Given the description of an element on the screen output the (x, y) to click on. 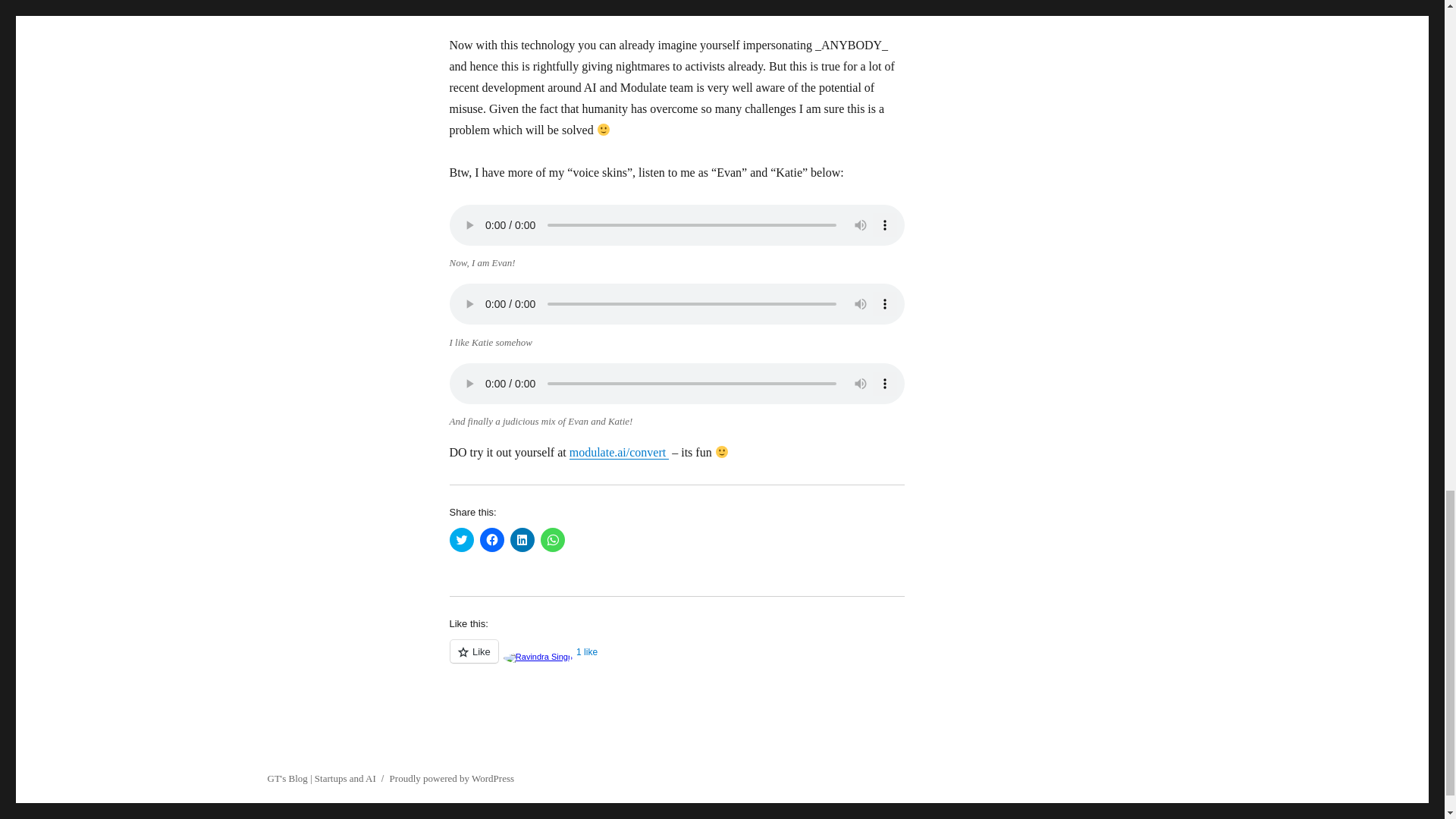
Like or Reblog (676, 659)
this post as well on MIT Technology Review (652, 4)
Click to share on WhatsApp (552, 539)
Click to share on LinkedIn (521, 539)
Click to share on Facebook (491, 539)
Click to share on Twitter (460, 539)
